Given the description of an element on the screen output the (x, y) to click on. 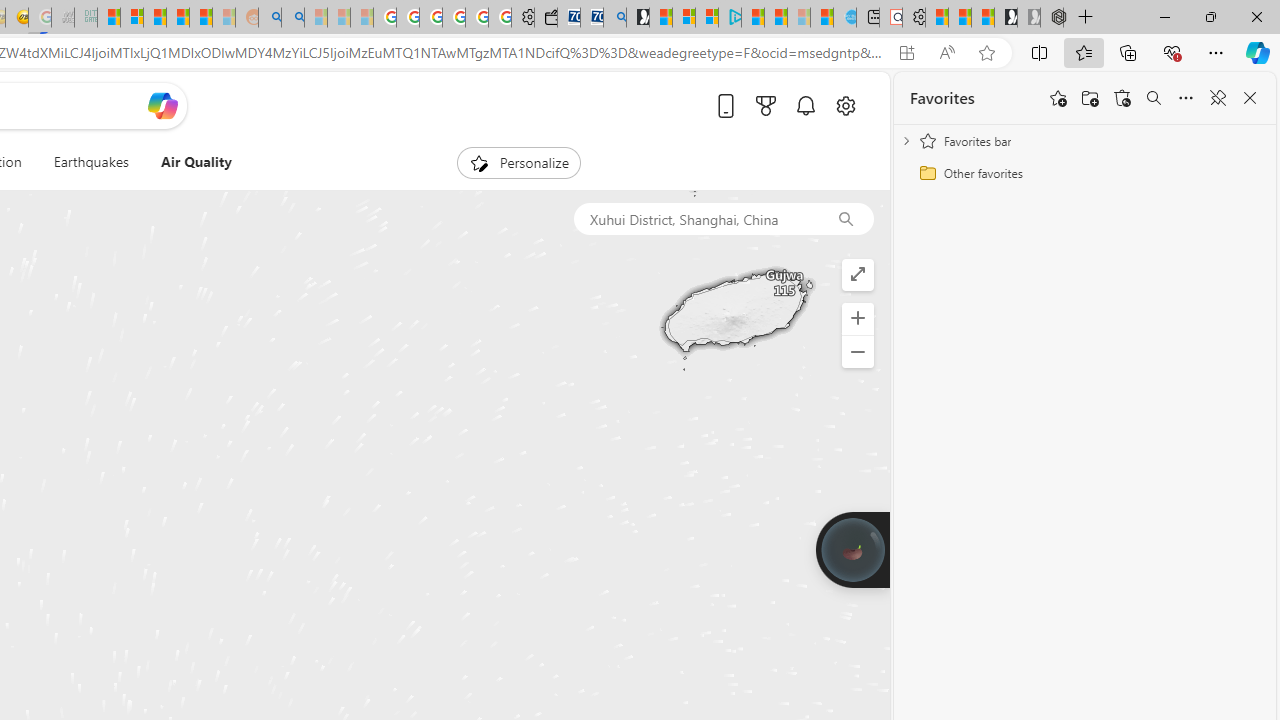
Add folder (1089, 98)
Zoom out (858, 351)
Unpin favorites (1217, 98)
